Given the description of an element on the screen output the (x, y) to click on. 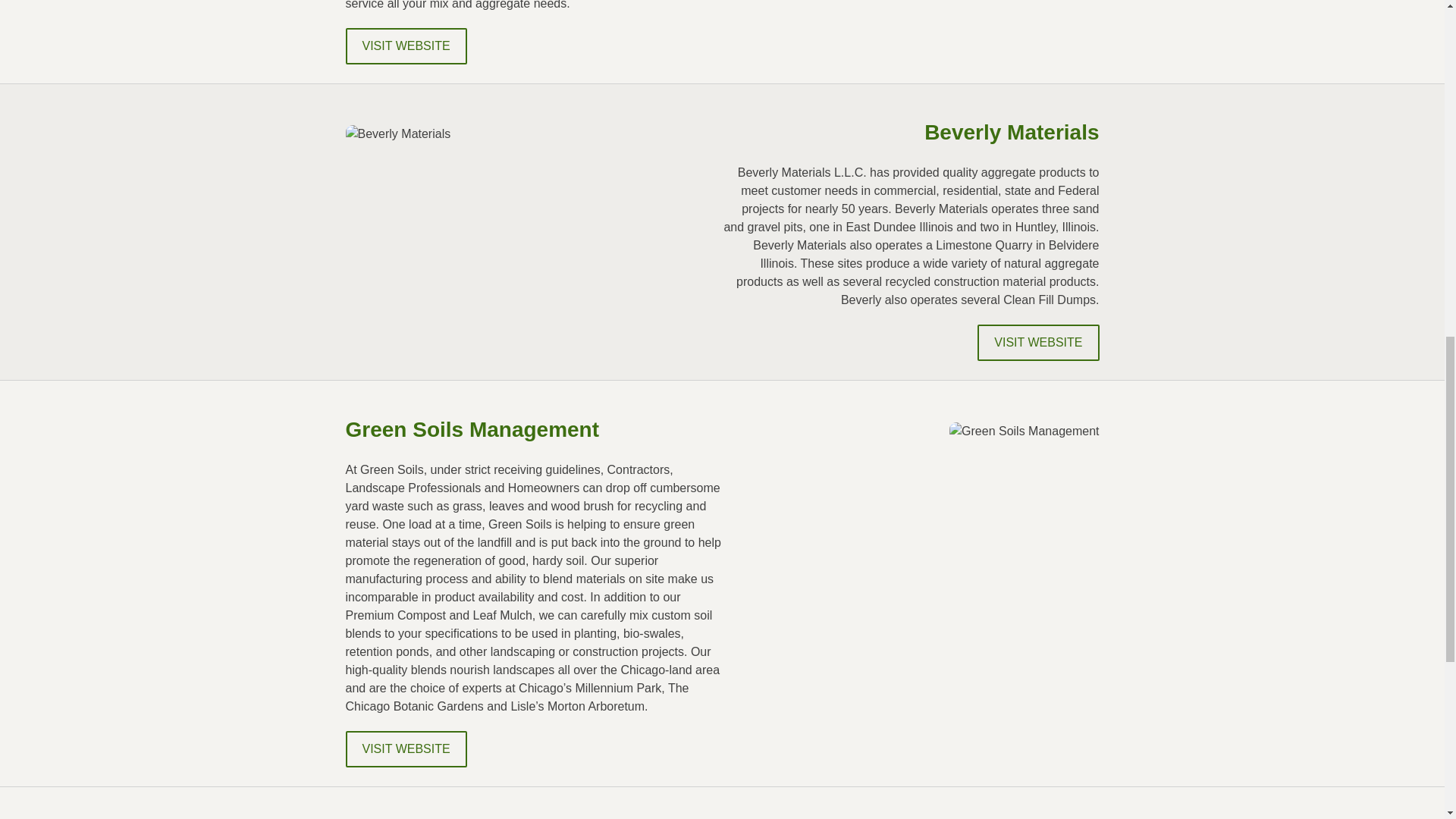
VISIT WEBSITE (1037, 342)
VISIT WEBSITE (406, 749)
VISIT WEBSITE (406, 45)
